Given the description of an element on the screen output the (x, y) to click on. 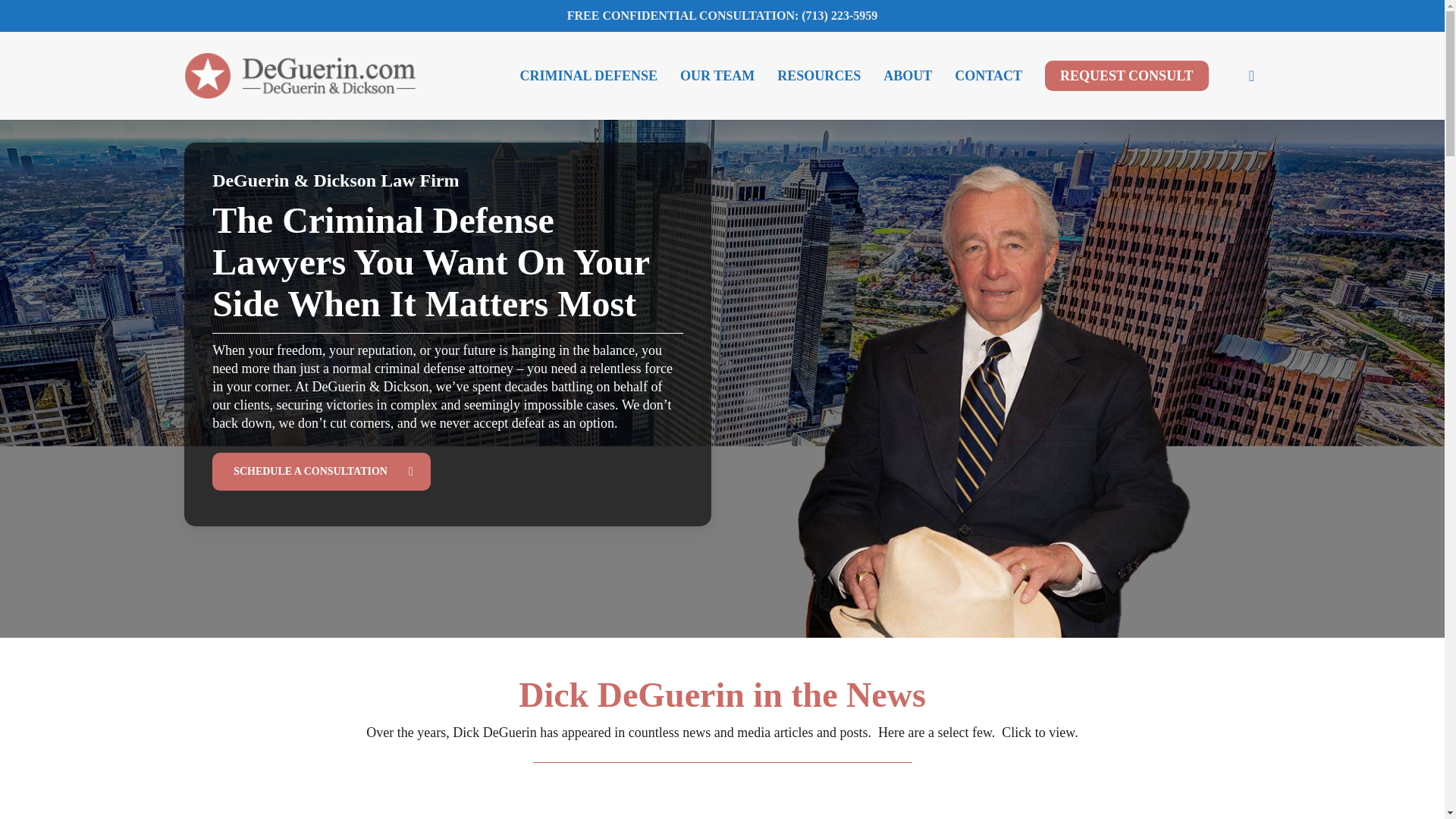
REQUEST CONSULT (1126, 75)
RESOURCES (818, 75)
SCHEDULE A CONSULTATION (321, 470)
search (1250, 75)
ABOUT (907, 75)
CRIMINAL DEFENSE (588, 75)
CONTACT (988, 75)
OUR TEAM (716, 75)
